Given the description of an element on the screen output the (x, y) to click on. 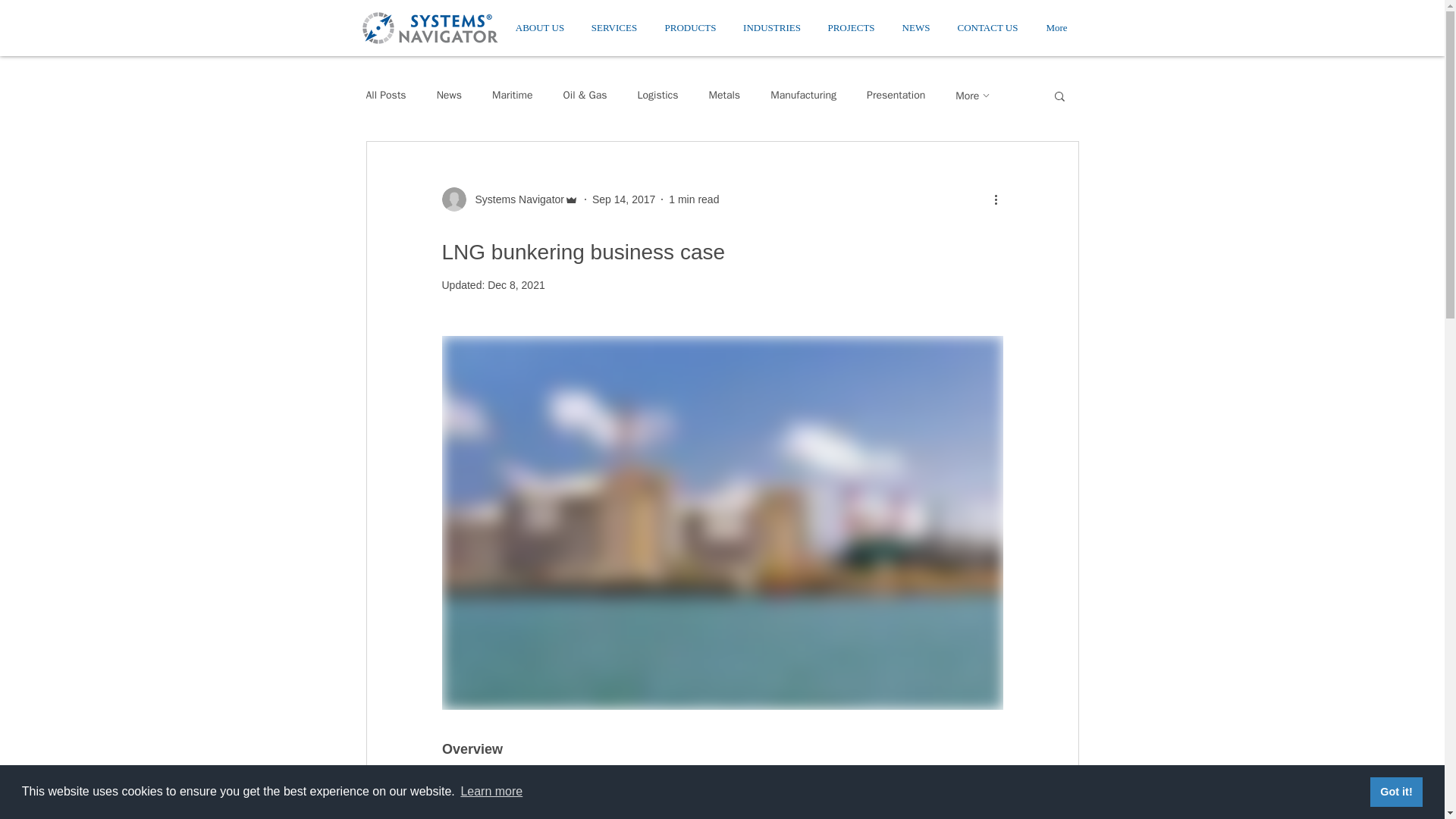
Dec 8, 2021 (515, 285)
Metals (723, 95)
Manufacturing (802, 95)
SERVICES (614, 27)
Site Search (1176, 29)
1 min read (693, 198)
Presentation (895, 95)
Logistics (657, 95)
Maritime (512, 95)
NEWS (915, 27)
